Given the description of an element on the screen output the (x, y) to click on. 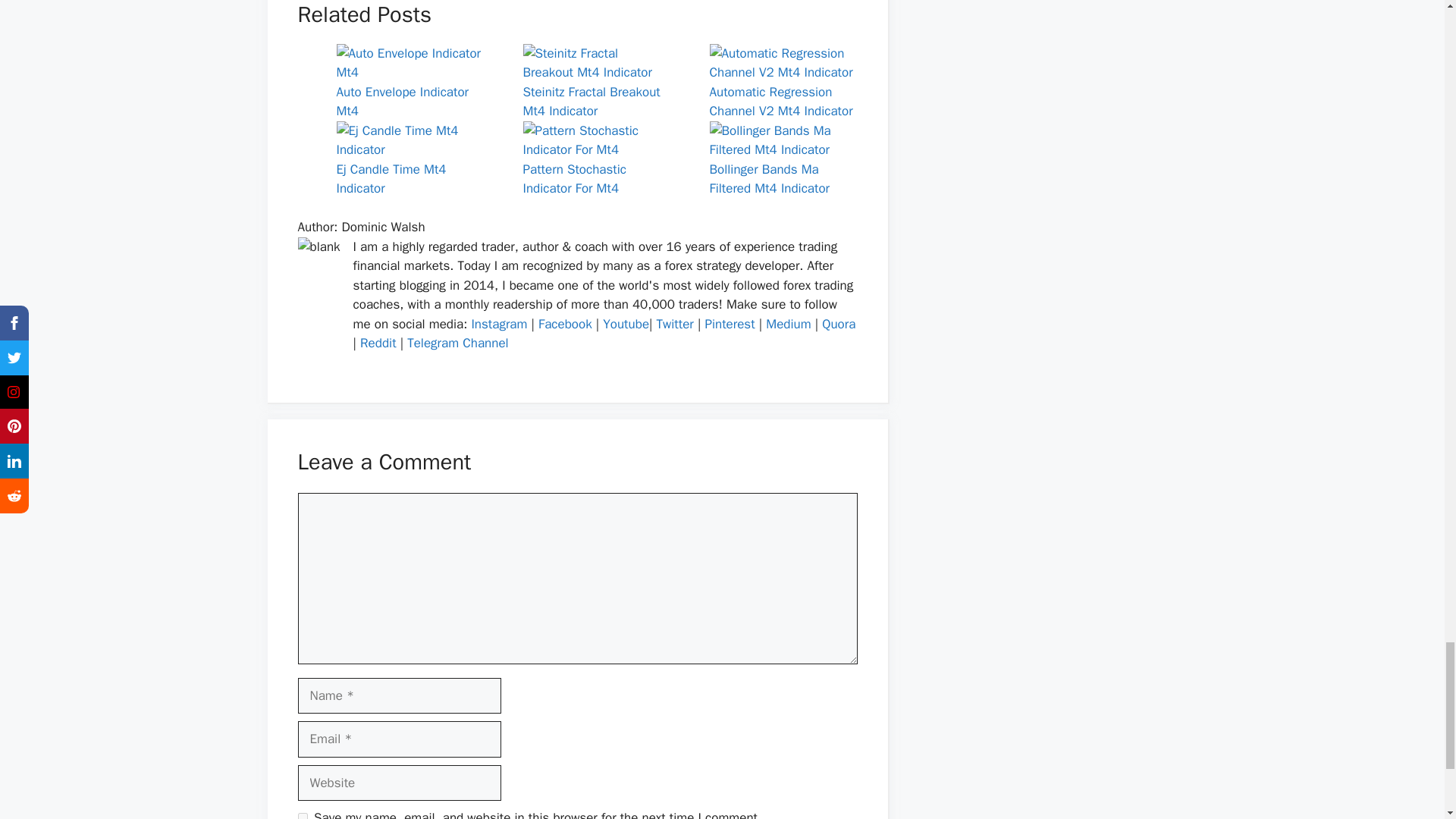
yes (302, 816)
